Given the description of an element on the screen output the (x, y) to click on. 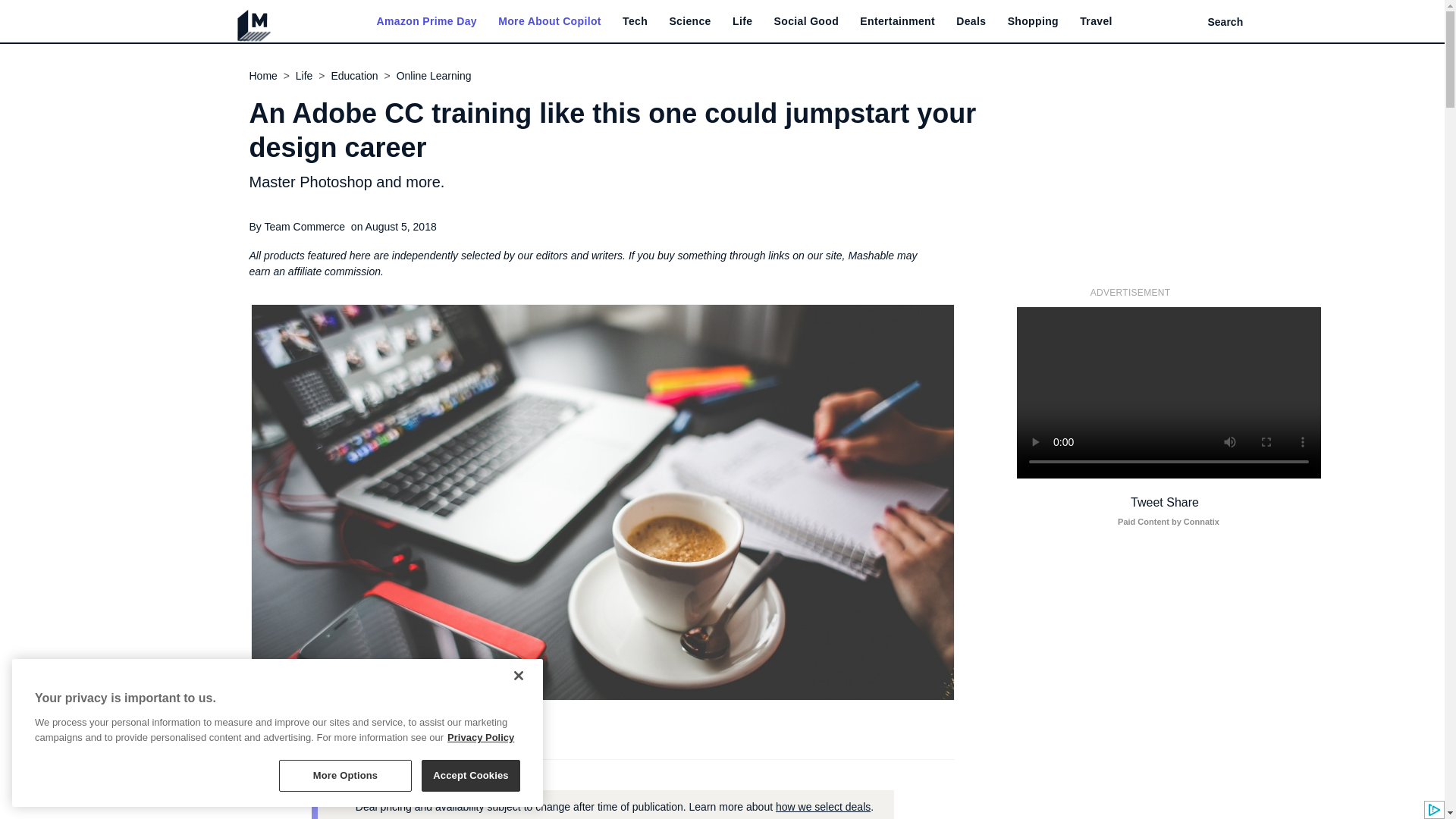
Tech (635, 21)
Deals (970, 21)
Shopping (1032, 21)
Travel (1096, 21)
More About Copilot (549, 21)
Social Good (807, 21)
Science (689, 21)
Amazon Prime Day (425, 21)
Entertainment (897, 21)
Life (742, 21)
